Given the description of an element on the screen output the (x, y) to click on. 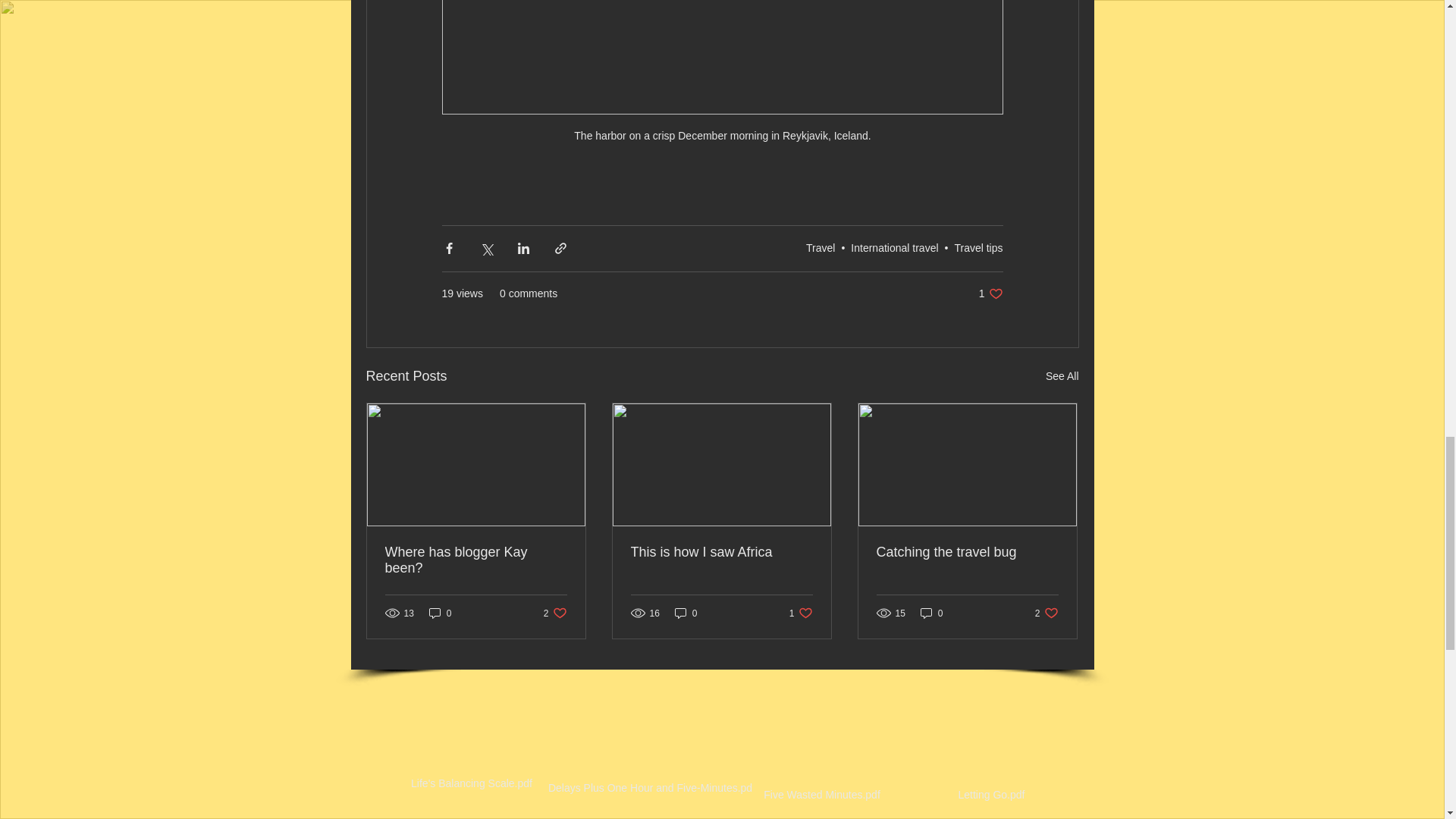
International travel (893, 247)
Travel (820, 247)
Life's Balancing Scale.pdf (471, 741)
Travel tips (978, 247)
See All (1061, 376)
Five Wasted Minutes.pdf (821, 752)
Delays Plus One Hour and Five-Minutes.pd (990, 293)
Where has blogger Kay been? (649, 745)
